Given the description of an element on the screen output the (x, y) to click on. 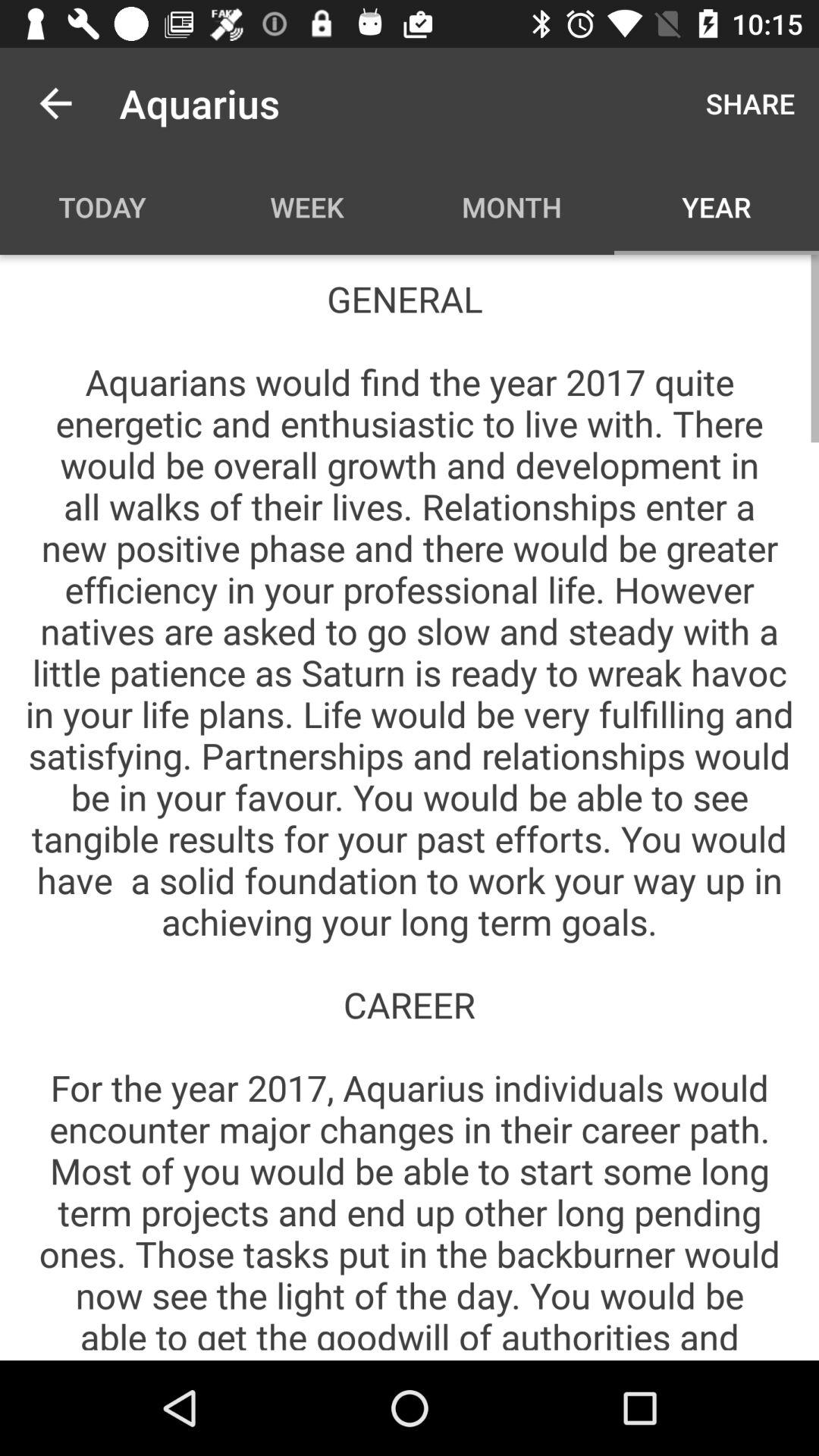
jump until share icon (750, 103)
